Given the description of an element on the screen output the (x, y) to click on. 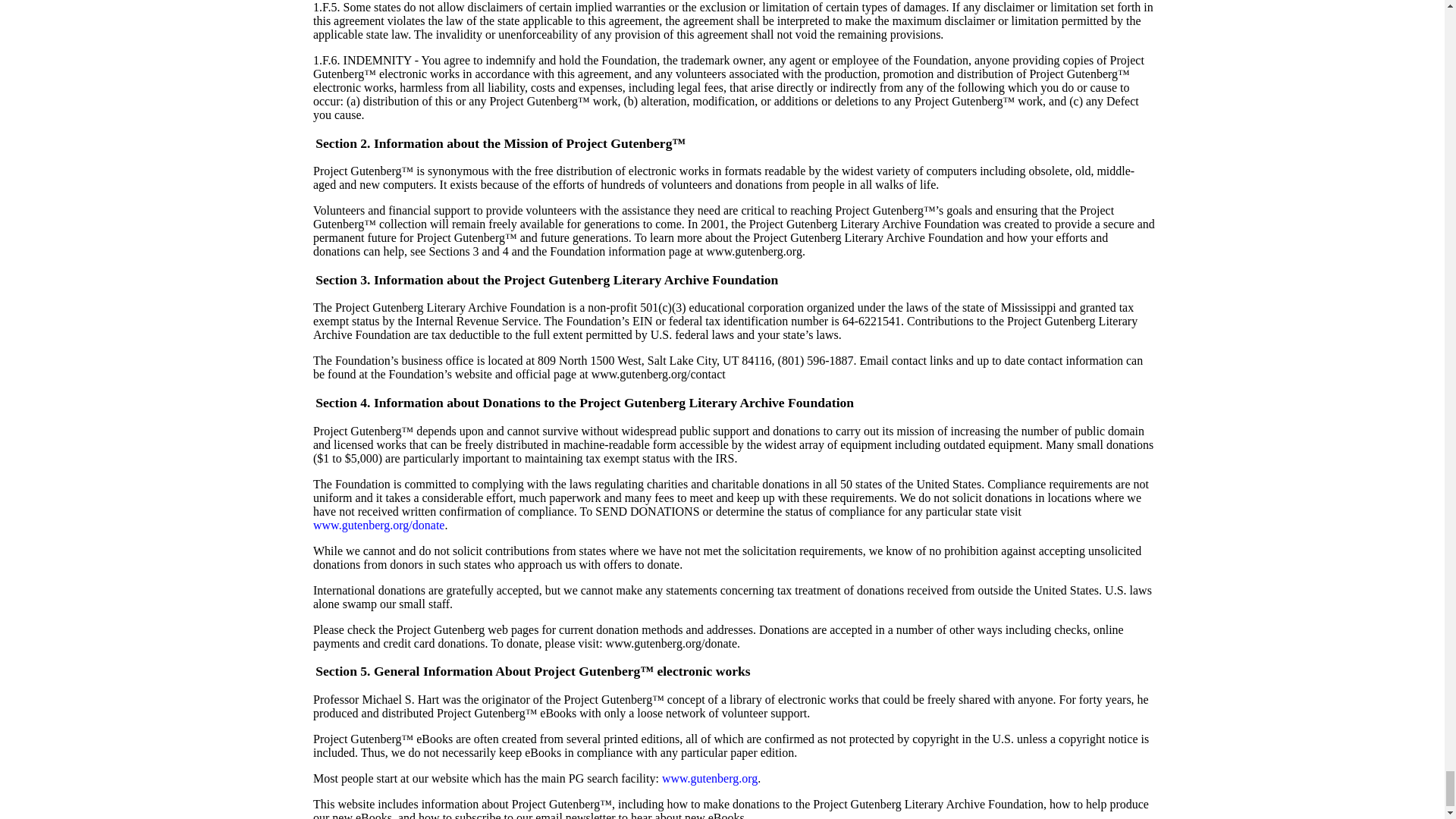
www.gutenberg.org (709, 778)
